Given the description of an element on the screen output the (x, y) to click on. 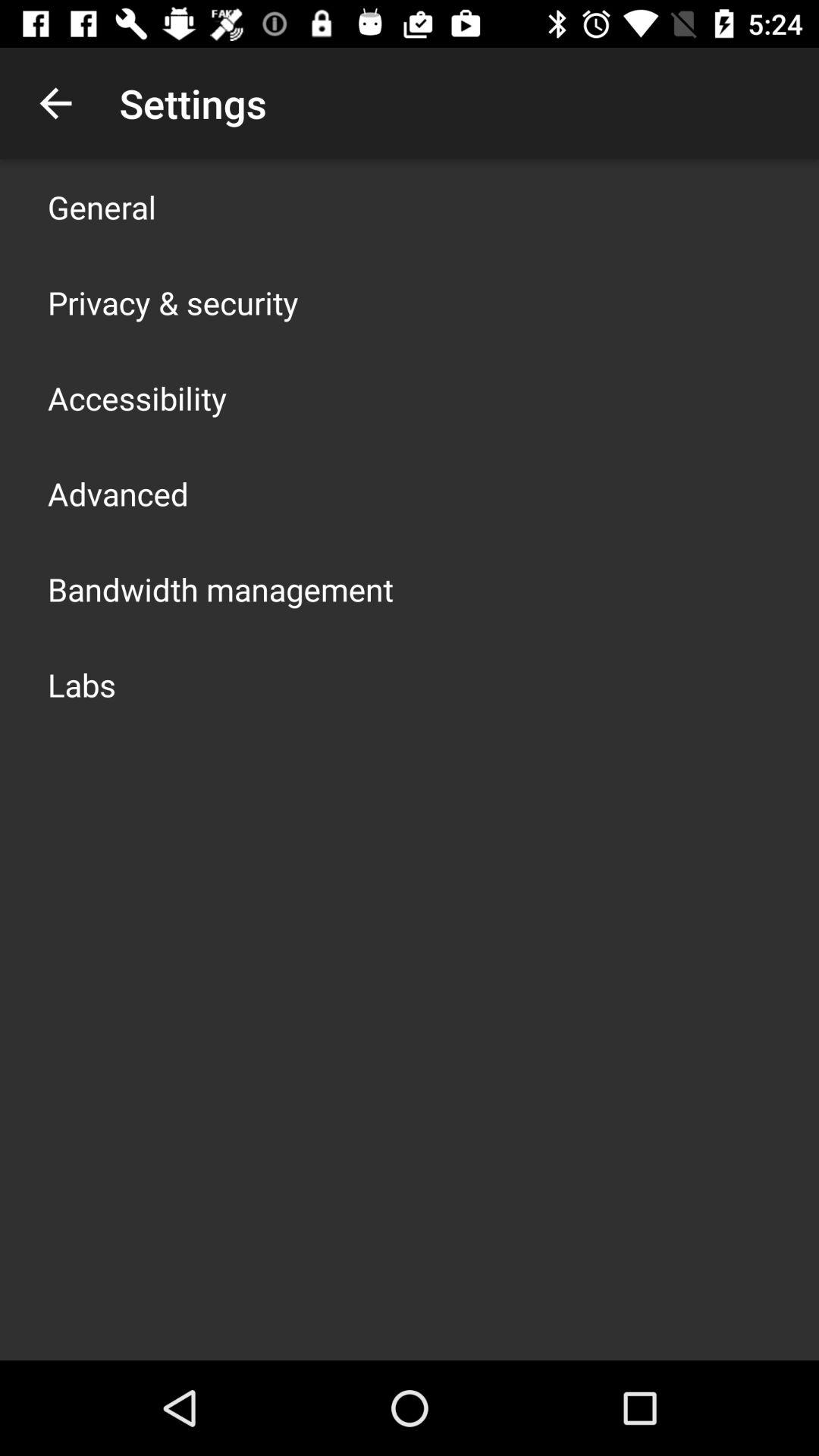
click the icon below advanced app (220, 588)
